Given the description of an element on the screen output the (x, y) to click on. 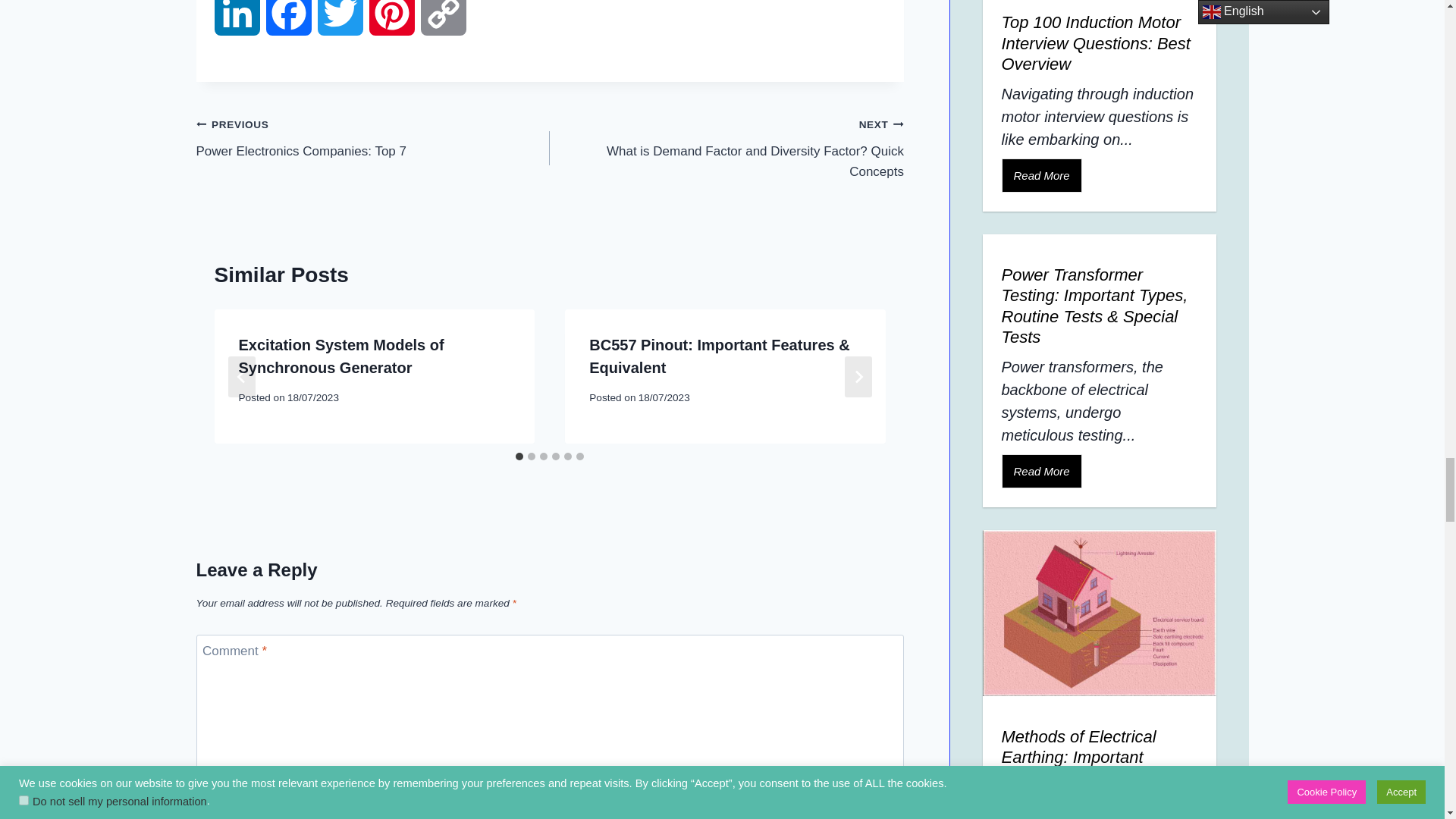
Copy Link (442, 27)
Twitter (339, 27)
LinkedIn (236, 27)
Pinterest (390, 27)
Facebook (288, 27)
